Given the description of an element on the screen output the (x, y) to click on. 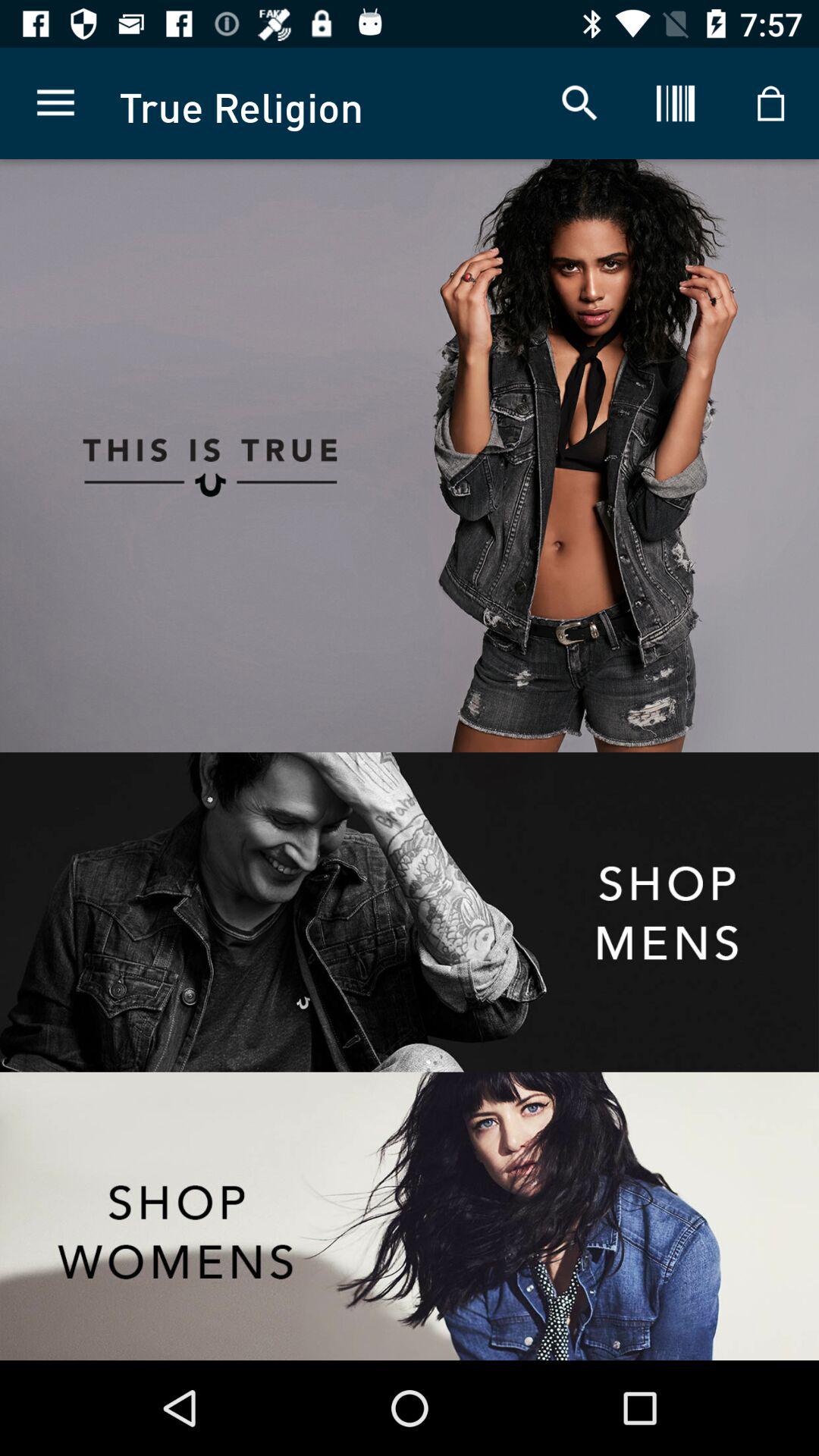
click item next to the true religion icon (55, 103)
